Given the description of an element on the screen output the (x, y) to click on. 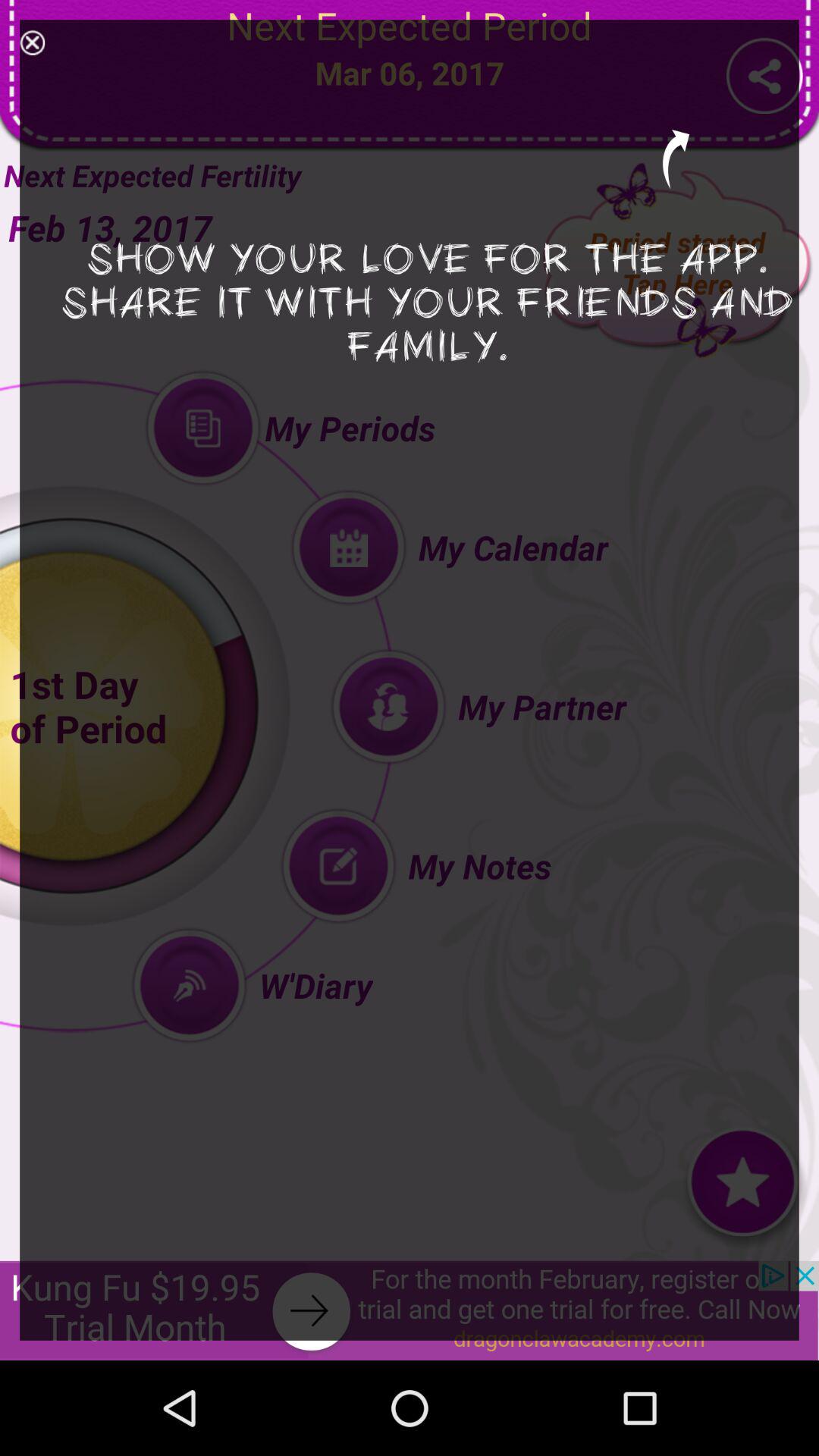
exit (31, 42)
